Given the description of an element on the screen output the (x, y) to click on. 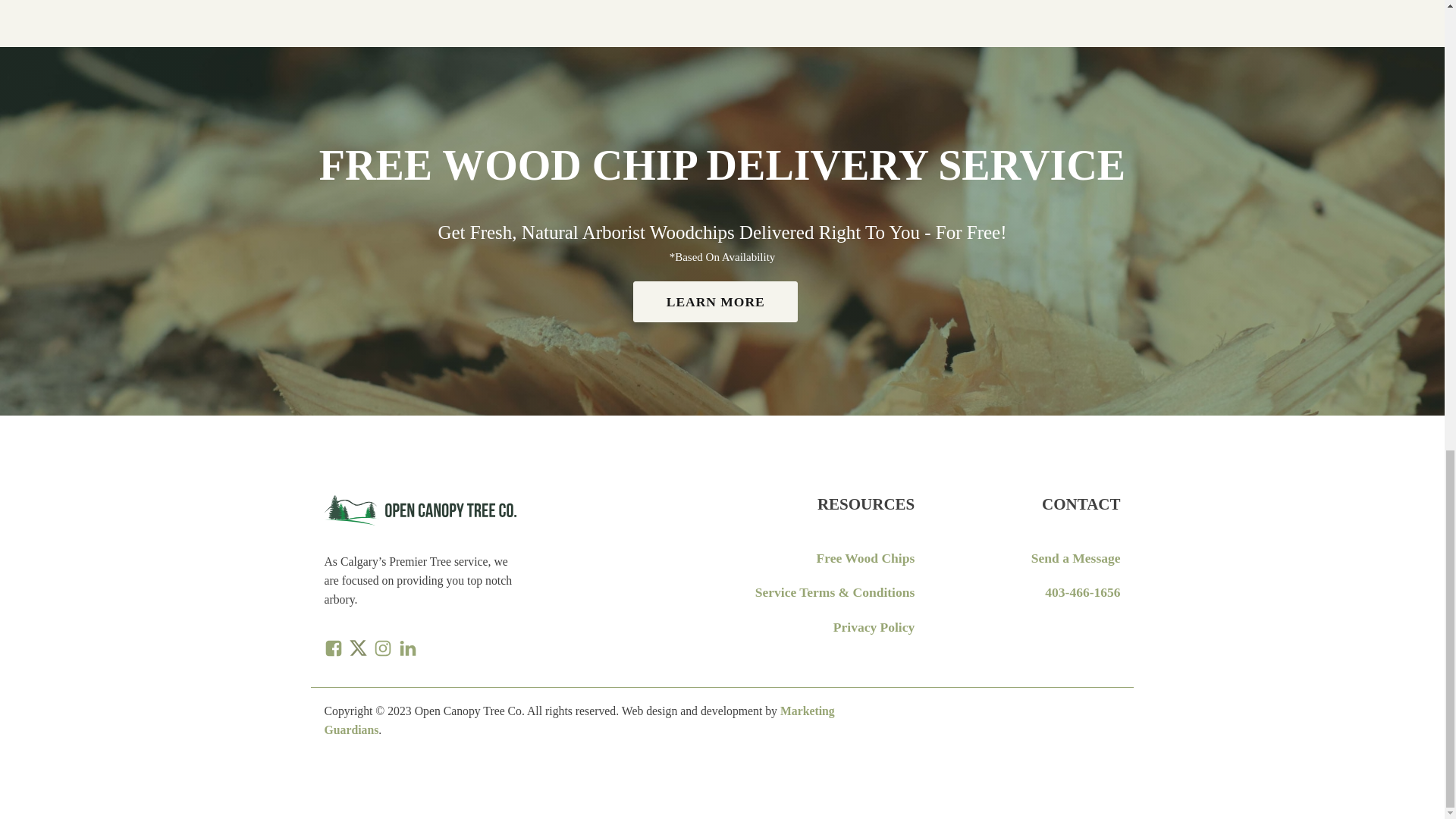
LEARN MORE (715, 301)
